Given the description of an element on the screen output the (x, y) to click on. 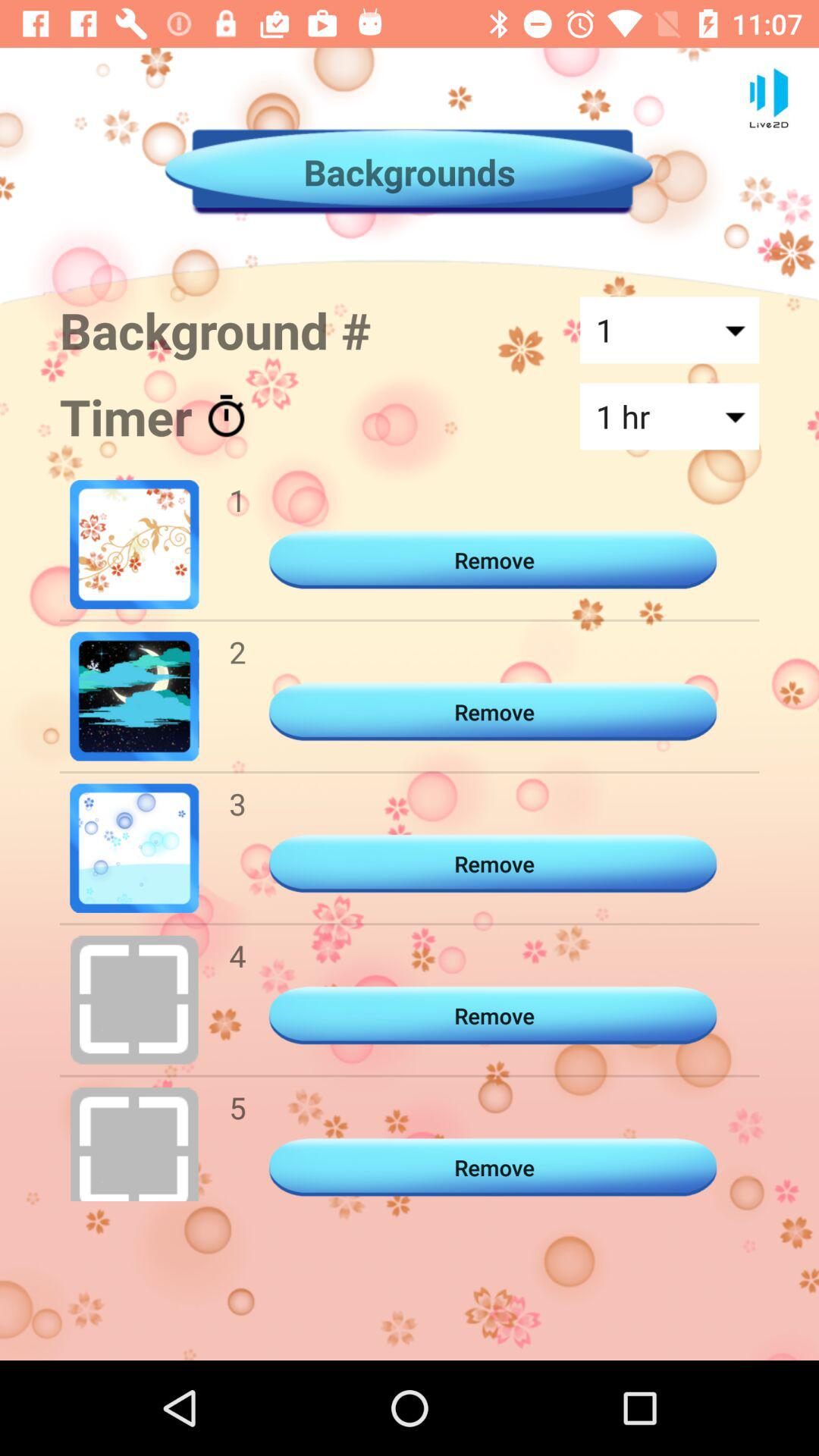
turn off the 3 icon (237, 803)
